Given the description of an element on the screen output the (x, y) to click on. 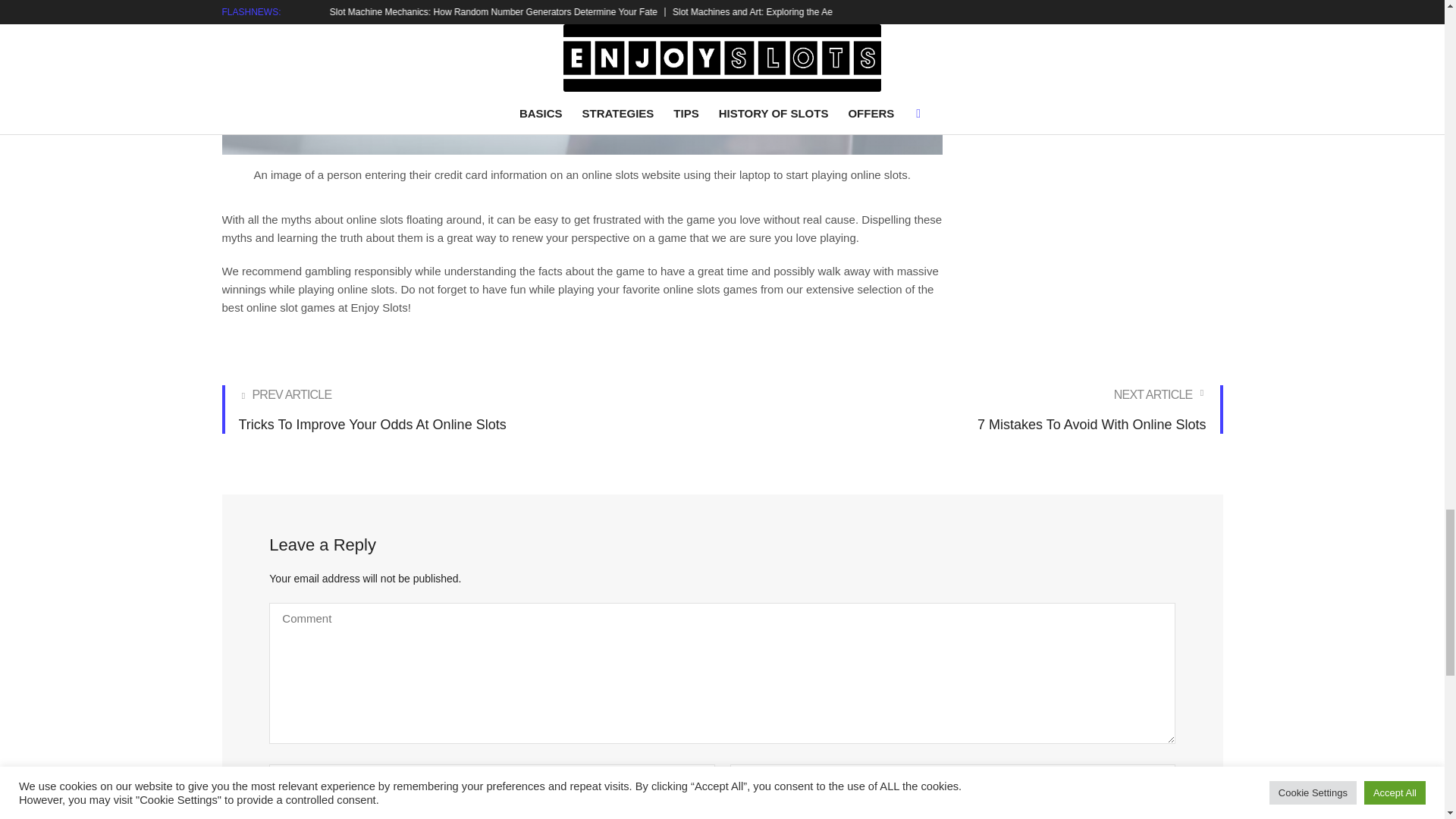
yes (976, 409)
